Given the description of an element on the screen output the (x, y) to click on. 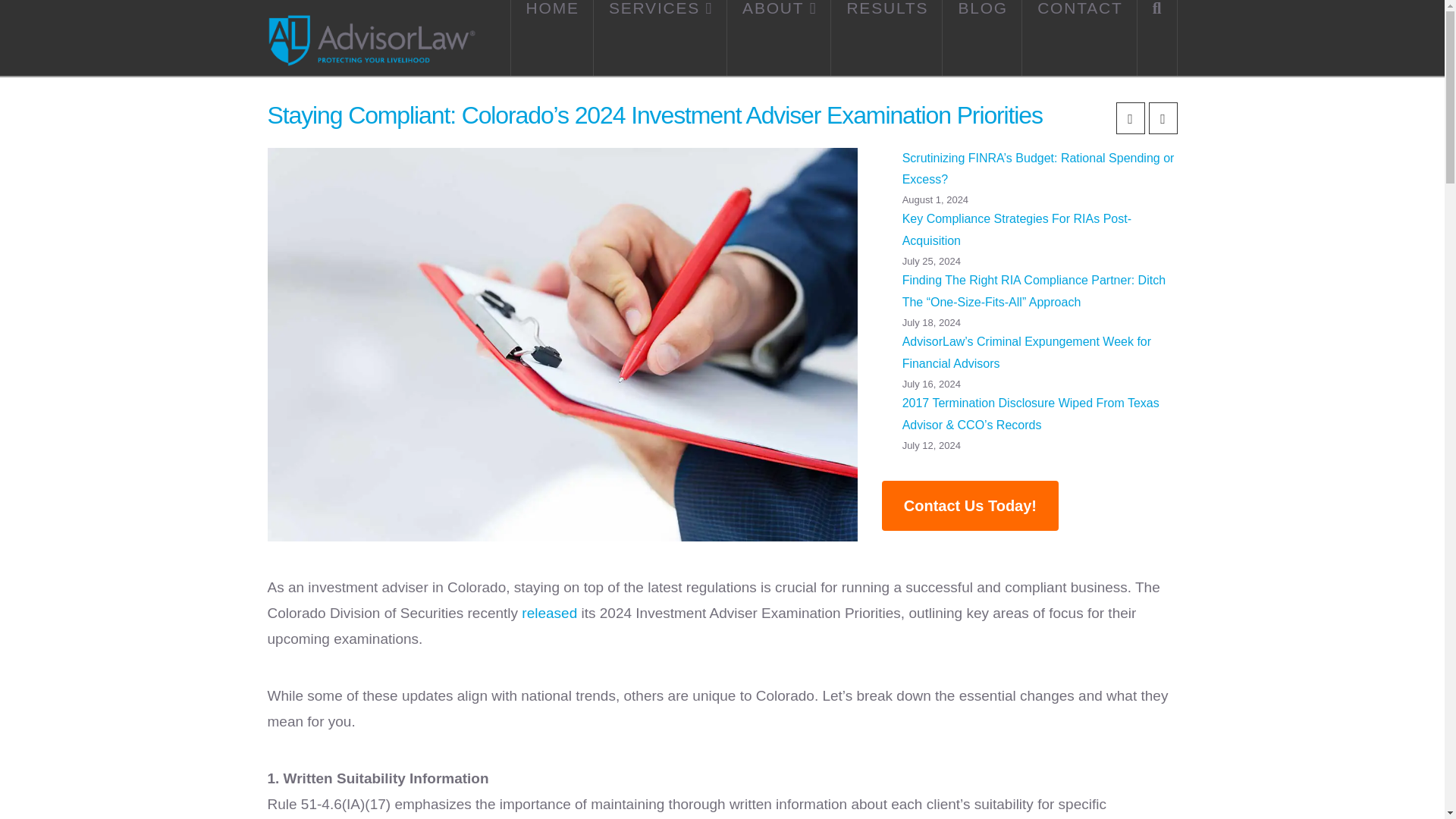
ABOUT (778, 38)
SERVICES (660, 38)
HOME (552, 38)
BLOG (982, 38)
CONTACT (1079, 38)
RESULTS (886, 38)
